Given the description of an element on the screen output the (x, y) to click on. 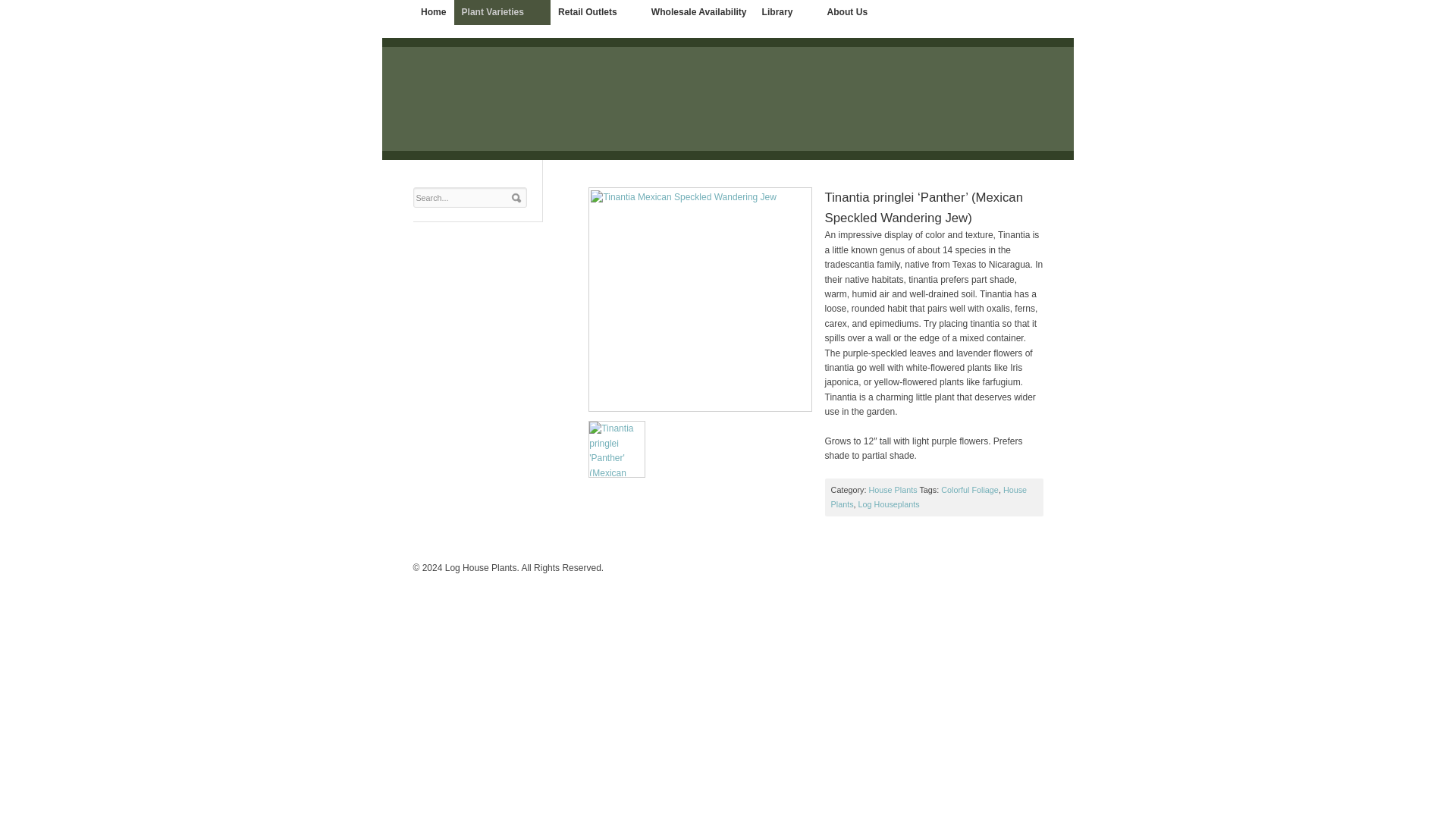
Home (433, 12)
Search... (461, 197)
Tinantia Mexican Speckled Wandering Jew (700, 299)
